Given the description of an element on the screen output the (x, y) to click on. 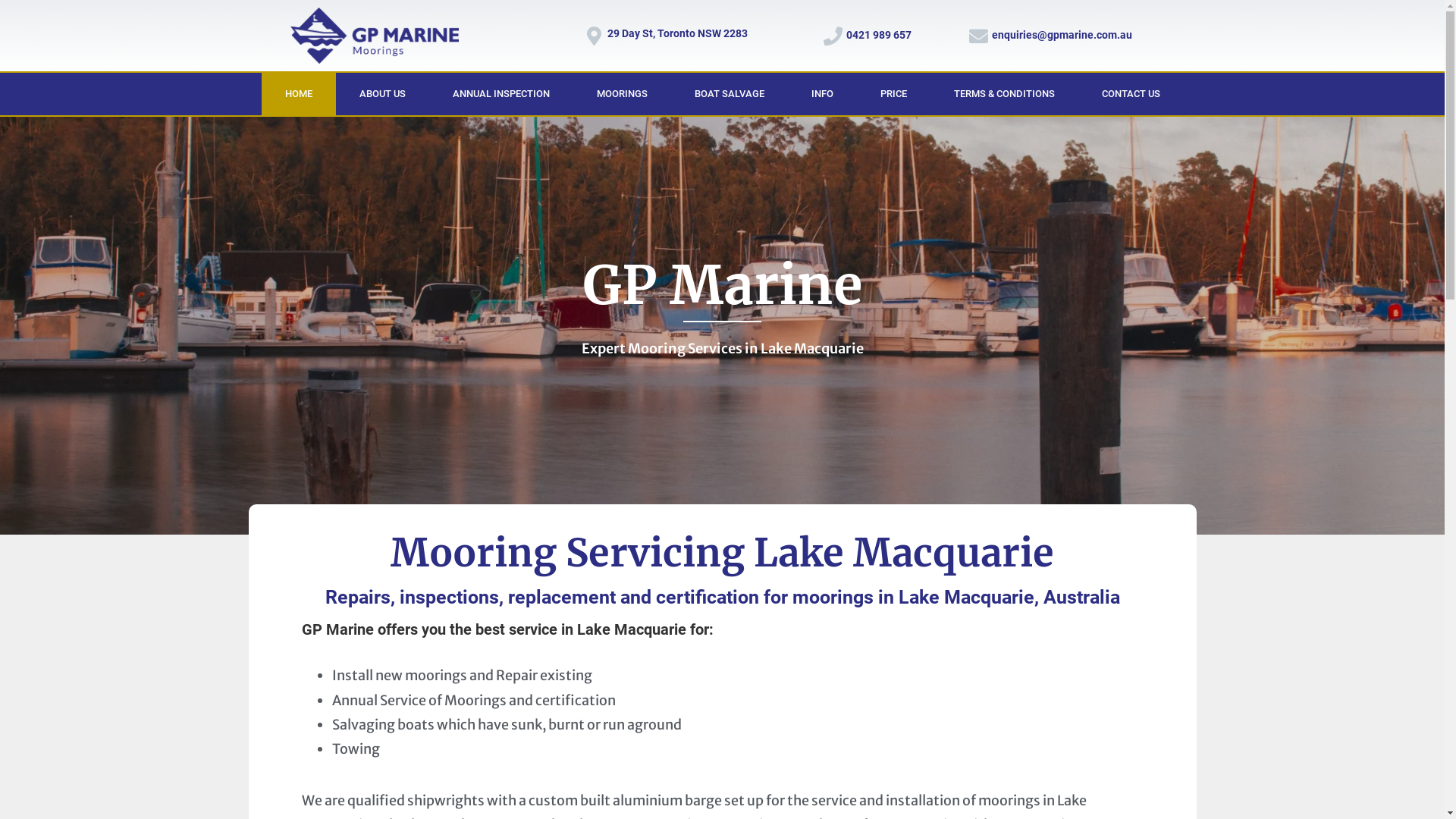
CONTACT US Element type: text (1130, 93)
INFO Element type: text (821, 93)
ABOUT US Element type: text (381, 93)
0421 989 657 Element type: text (878, 34)
29 Day St, Toronto NSW 2283 Element type: text (676, 33)
ANNUAL INSPECTION Element type: text (501, 93)
TERMS & CONDITIONS Element type: text (1003, 93)
PRICE Element type: text (893, 93)
BOAT SALVAGE Element type: text (728, 93)
MOORINGS Element type: text (622, 93)
enquiries@gpmarine.com.au Element type: text (1061, 34)
HOME Element type: text (297, 93)
